Given the description of an element on the screen output the (x, y) to click on. 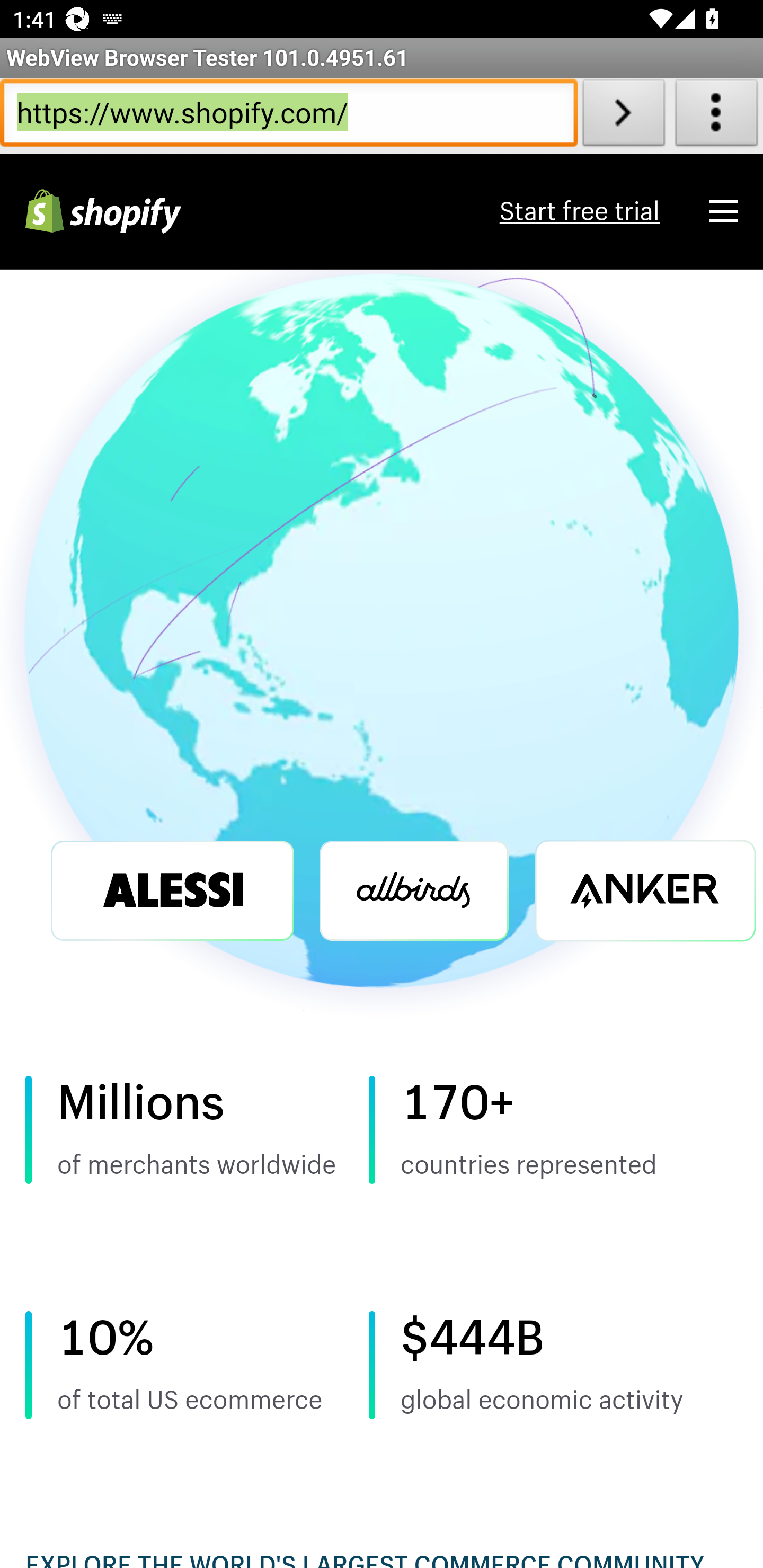
https://www.shopify.com/ (288, 115)
Load URL (623, 115)
About WebView (716, 115)
Menu (723, 210)
Shopify (103, 211)
Start free trial (579, 211)
